Given the description of an element on the screen output the (x, y) to click on. 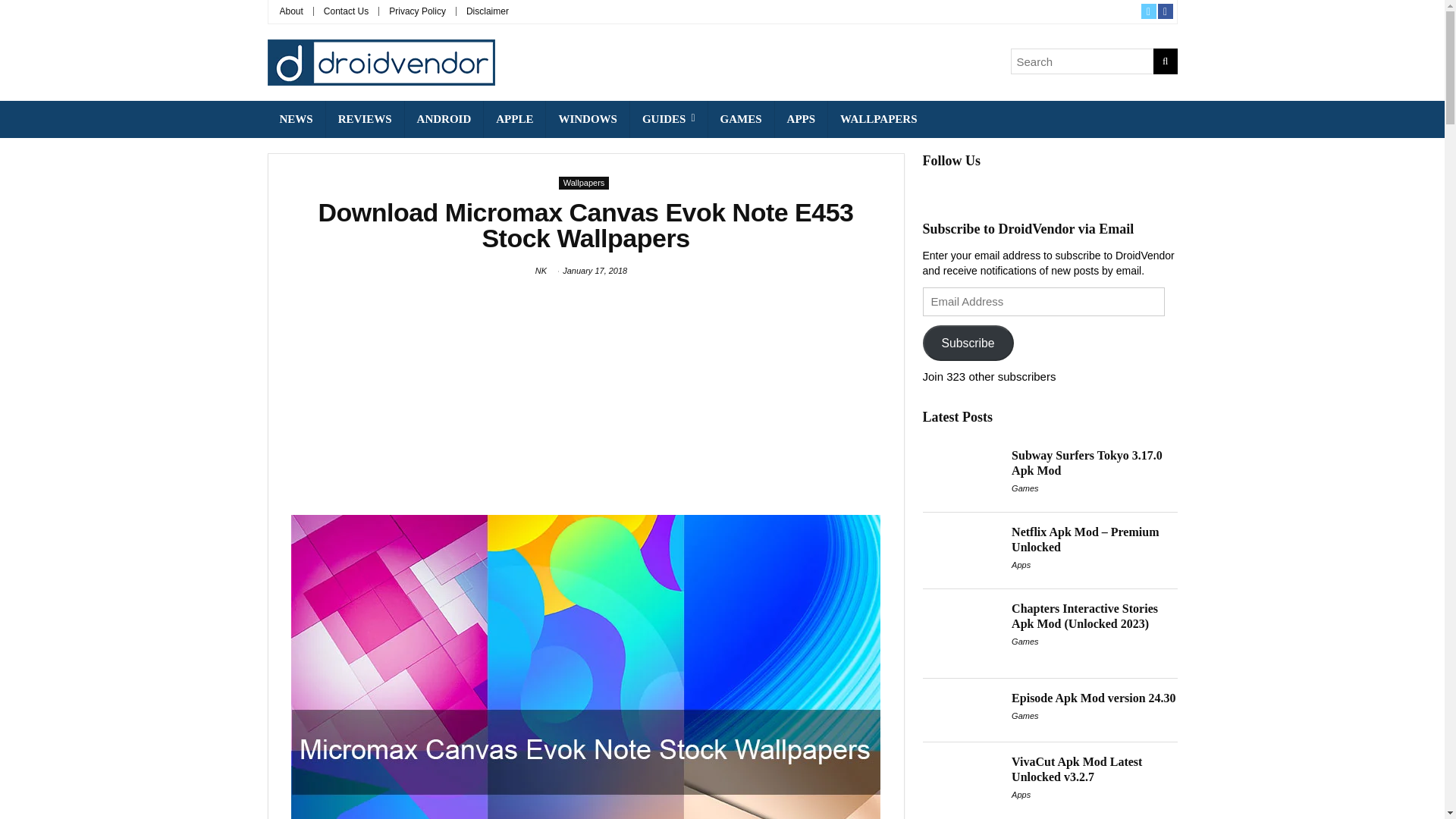
WINDOWS (587, 119)
Disclaimer (486, 10)
APPS (801, 119)
WALLPAPERS (878, 119)
About (290, 10)
Wallpapers (584, 182)
Contact Us (345, 10)
NK (541, 270)
GAMES (740, 119)
NEWS (295, 119)
